Given the description of an element on the screen output the (x, y) to click on. 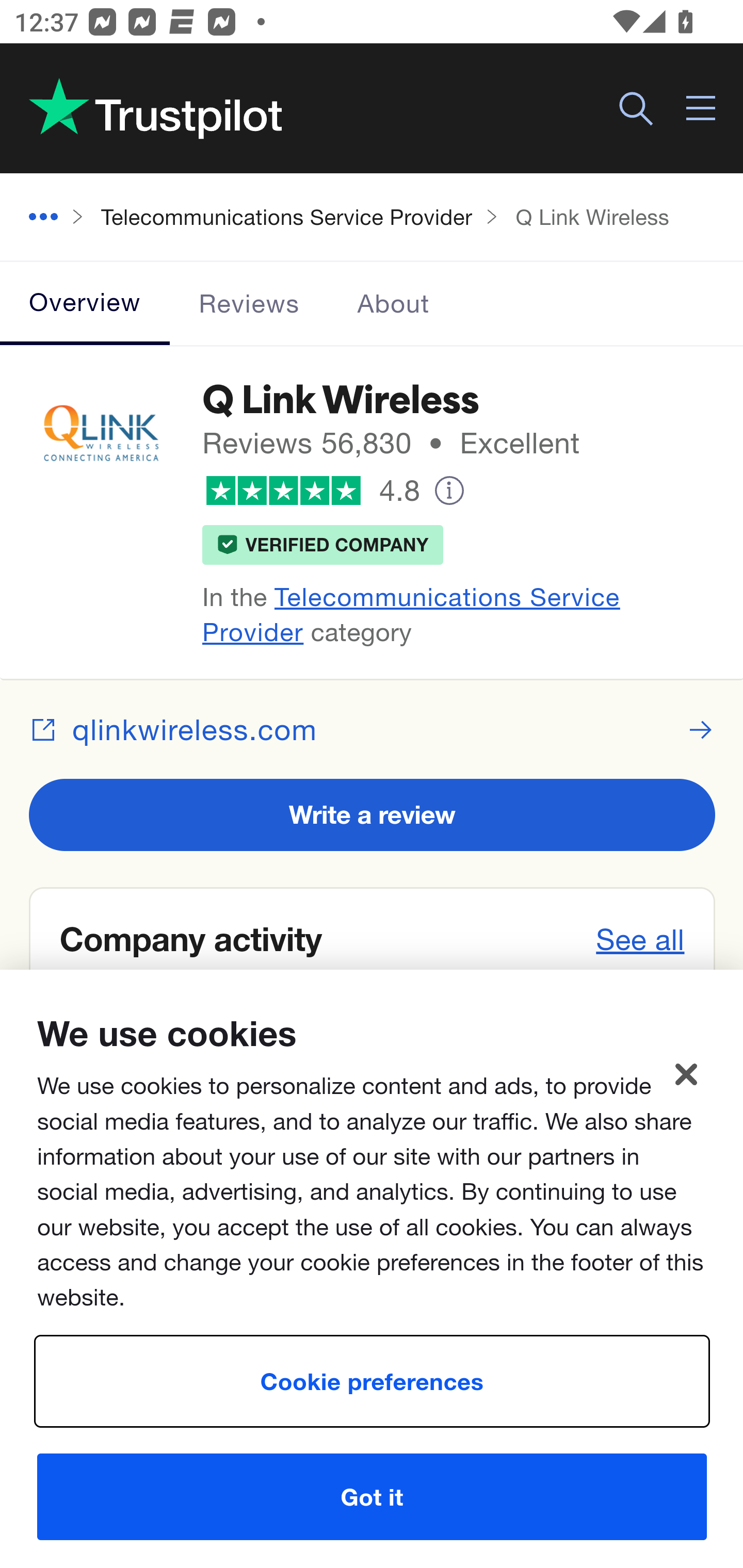
Trustpilot reviews (154, 108)
Search (636, 108)
Open menu (701, 108)
Telecommunications Service Provider (286, 215)
Show all breadcrumbs (50, 217)
Overview (85, 303)
Reviews (249, 303)
About (392, 303)
56,830  •  Excellent 56,830    •    Excellent (451, 442)
VERIFIED COMPANY (323, 543)
Telecommunications Service Provider (411, 614)
qlinkwire less.com qlinkwire less.com (372, 729)
Write a review (372, 814)
See all (640, 938)
Close (686, 1075)
Cookie preferences (372, 1381)
Got it (372, 1497)
